Given the description of an element on the screen output the (x, y) to click on. 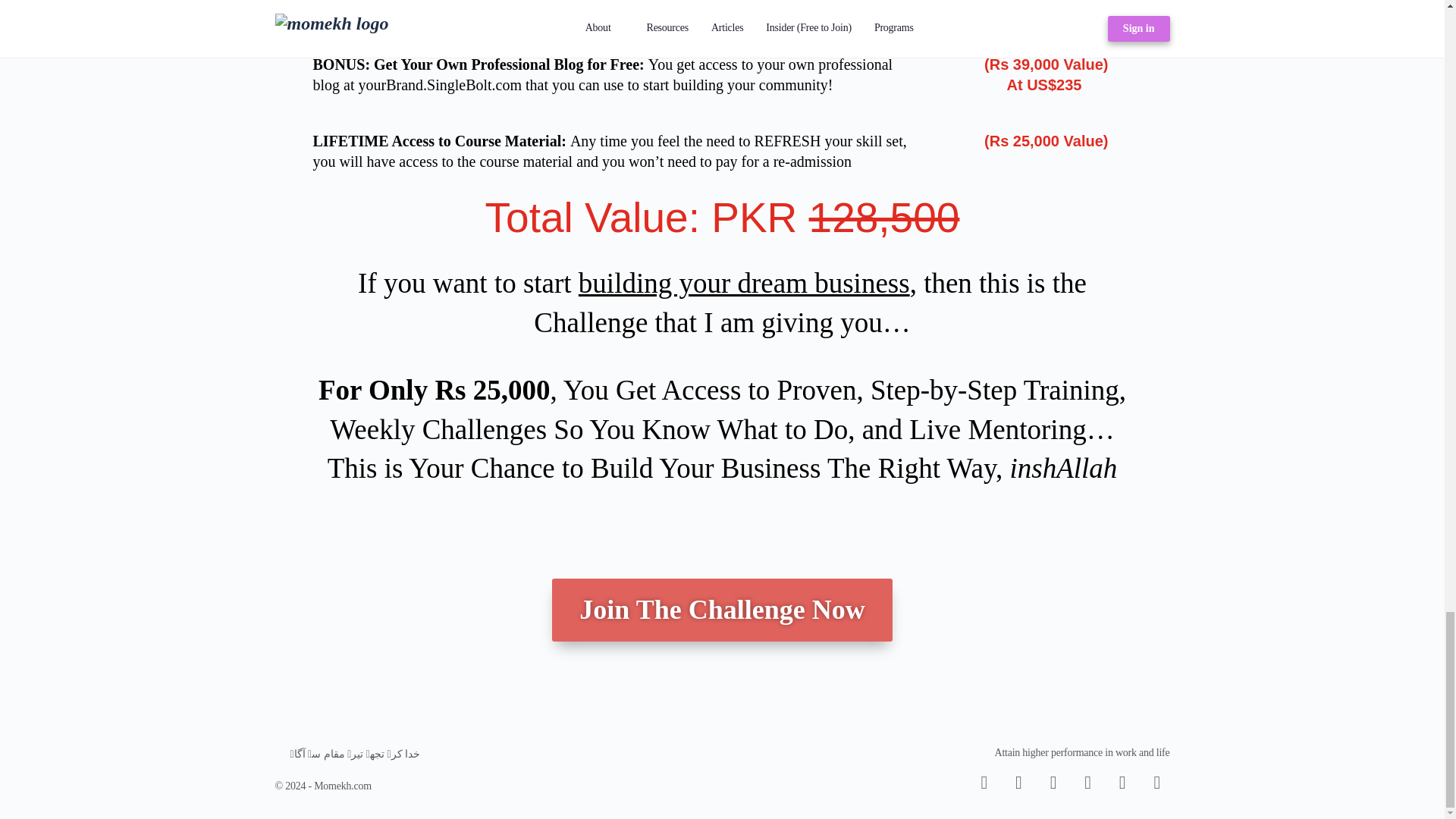
Join The Challenge Now (721, 609)
